Given the description of an element on the screen output the (x, y) to click on. 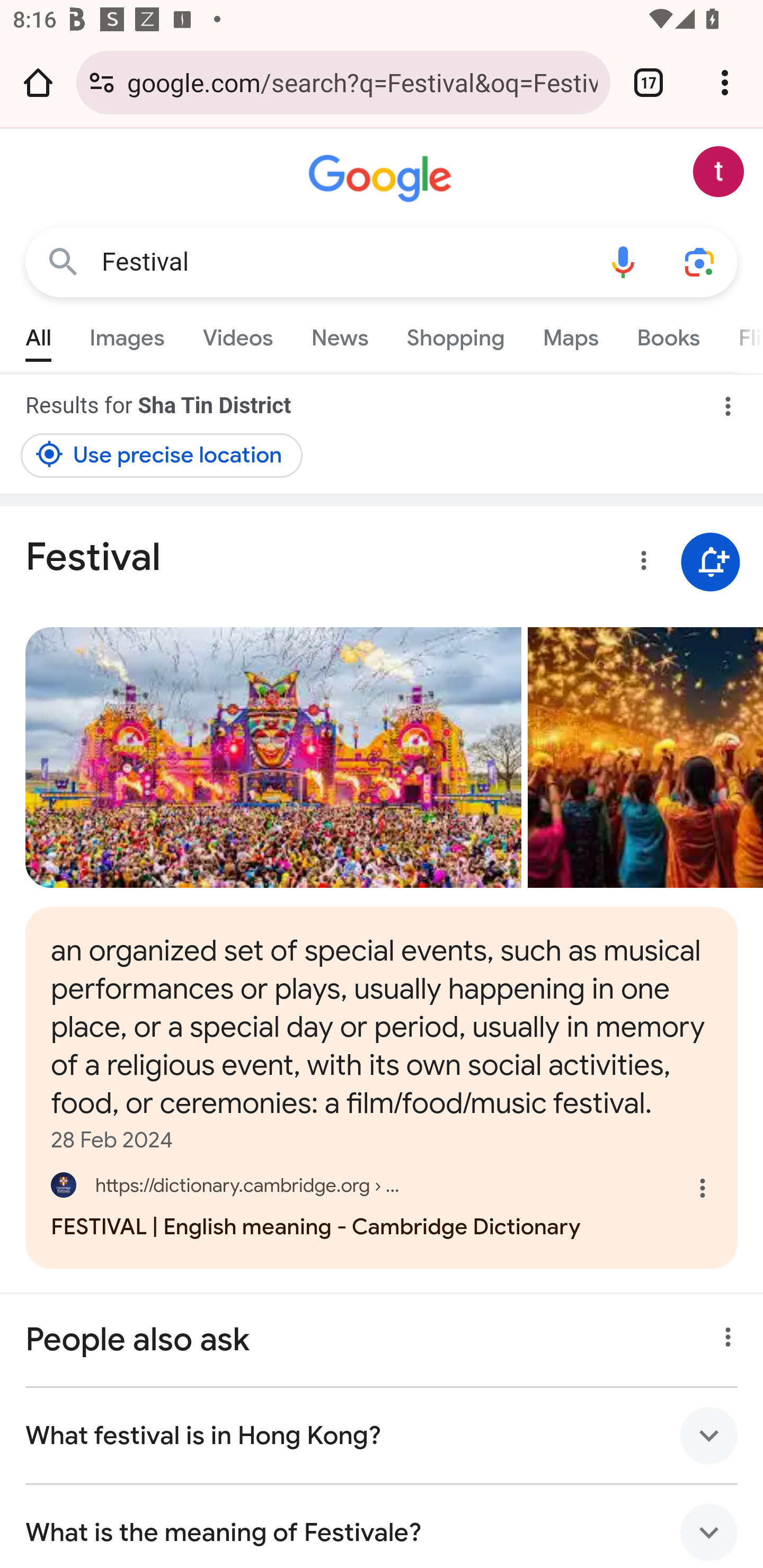
Open the home page (38, 82)
Connection is secure (101, 82)
Switch or close tabs (648, 82)
Customize and control Google Chrome (724, 82)
Google (381, 179)
Google Search (63, 262)
Search using your camera or photos (699, 262)
Festival (343, 261)
Images (127, 333)
Videos (237, 333)
News (338, 333)
Shopping (455, 333)
Maps (570, 333)
Books (668, 333)
Use precise location (161, 455)
Get notifications about Festival (710, 561)
More options (640, 563)
FESTIVAL | English meaning - Cambridge Dictionary (381, 1203)
About this result (723, 1332)
What festival is in Hong Kong? (381, 1435)
What is the meaning of Festivale? (381, 1526)
